Given the description of an element on the screen output the (x, y) to click on. 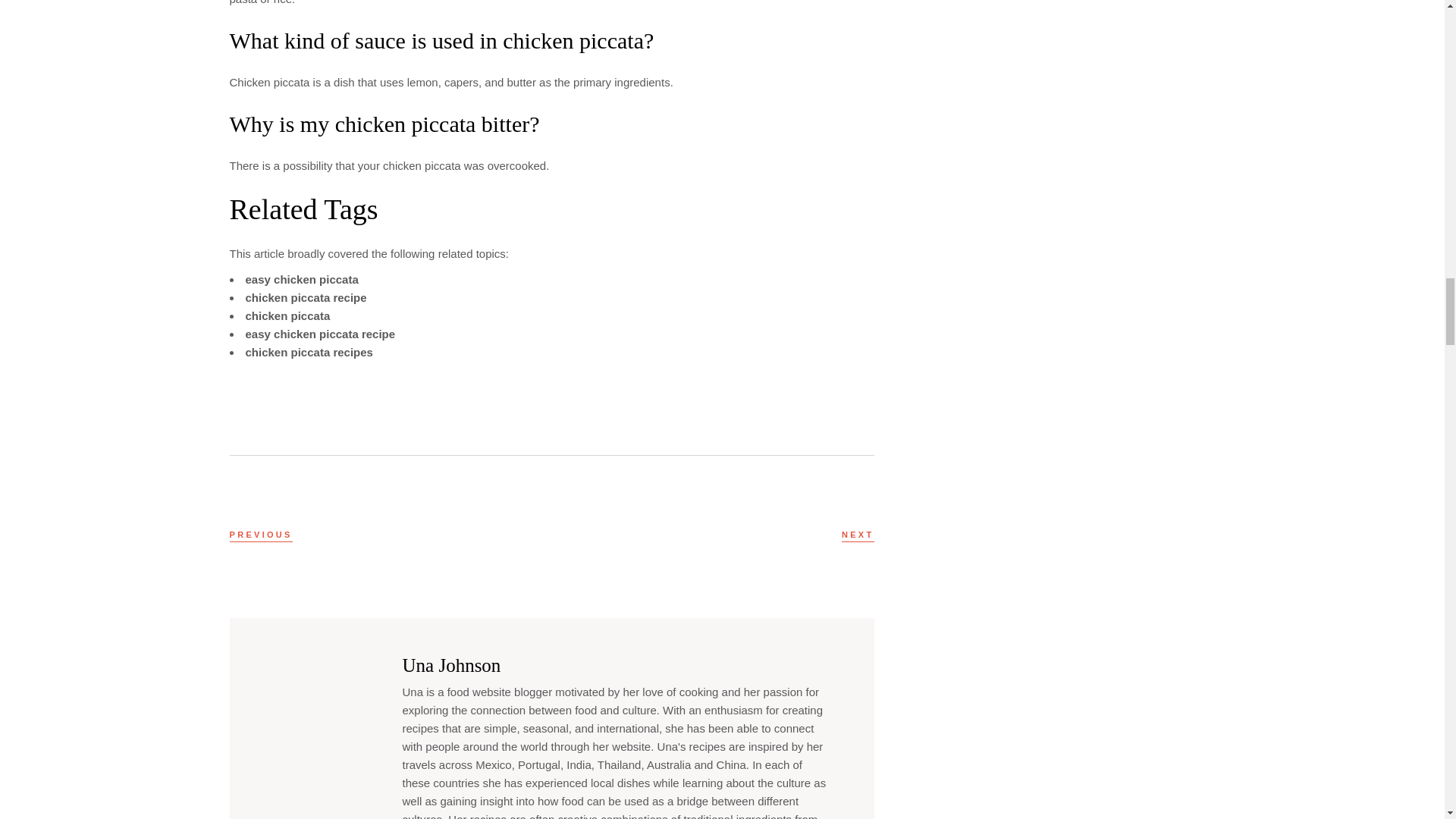
Una Johnson (450, 665)
NEXT (858, 534)
PREVIOUS (260, 534)
